Given the description of an element on the screen output the (x, y) to click on. 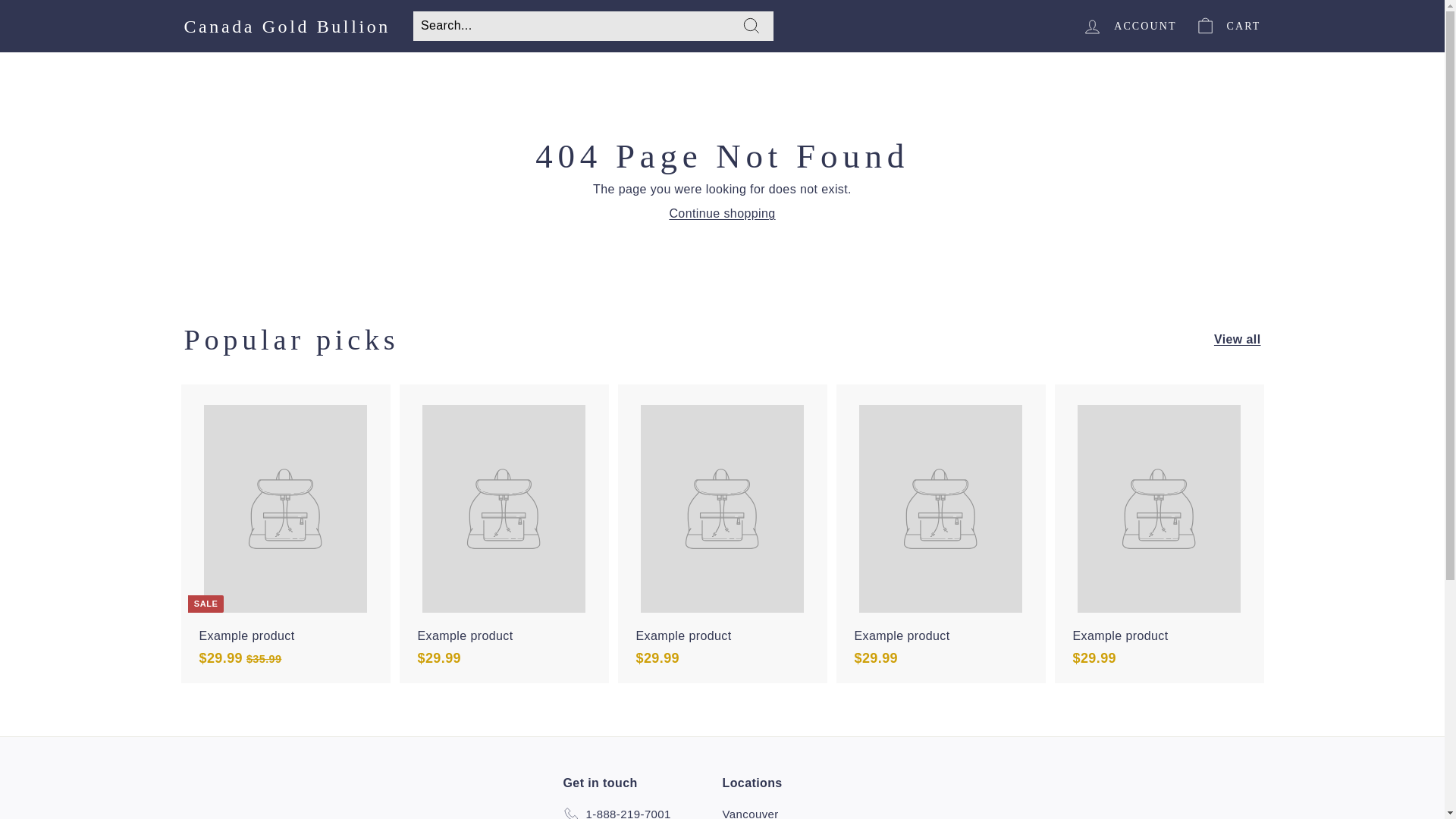
View all (1237, 339)
Canada Gold Bullion (286, 25)
Vancouver (749, 811)
1-888-219-7001 (615, 811)
ACCOUNT (1129, 26)
Continue shopping (721, 213)
